Given the description of an element on the screen output the (x, y) to click on. 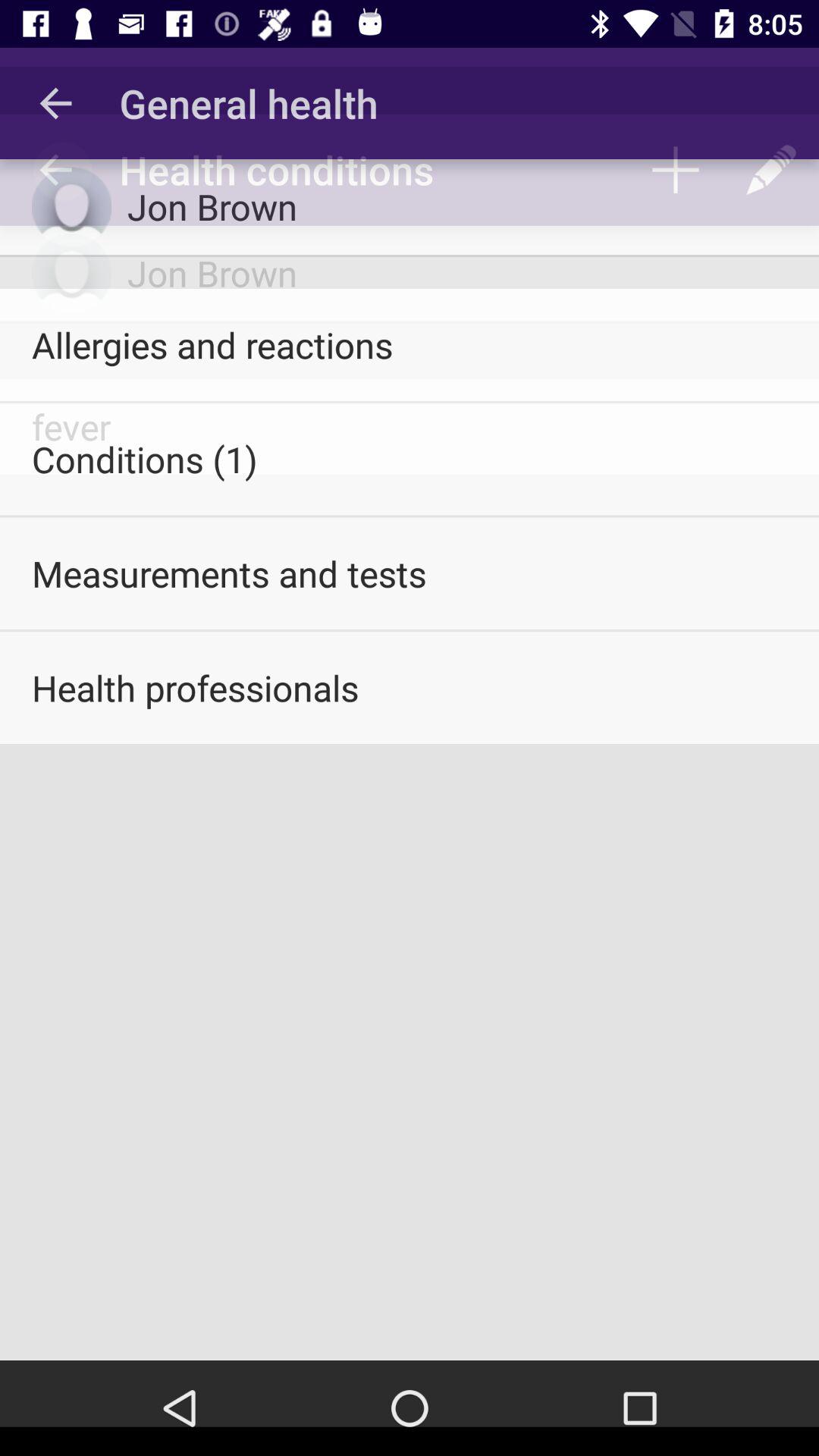
tap the conditions (1) (409, 459)
